Given the description of an element on the screen output the (x, y) to click on. 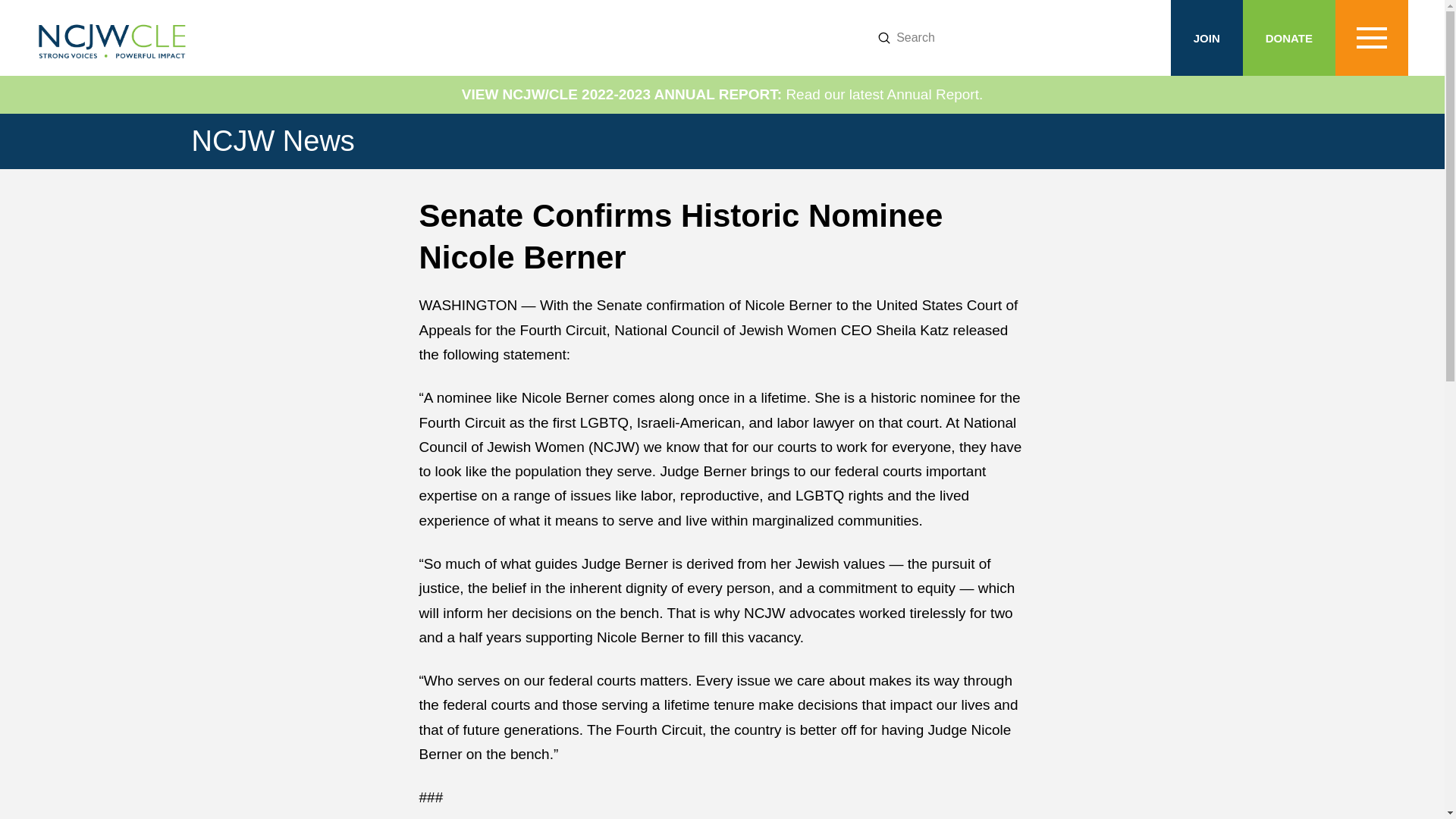
DONATE (1289, 38)
Submit (883, 37)
JOIN (1206, 38)
